Given the description of an element on the screen output the (x, y) to click on. 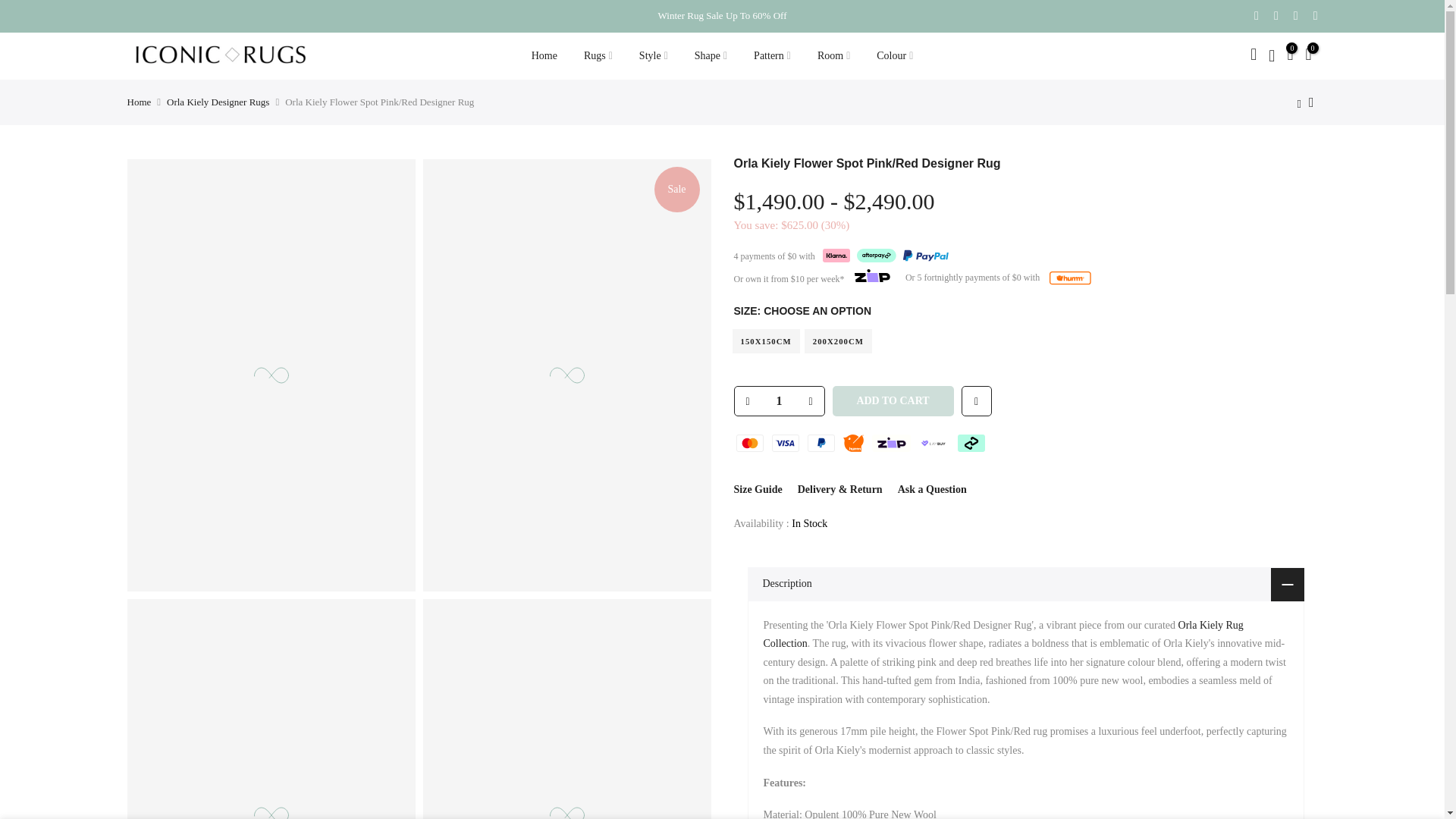
Size Guide (758, 489)
Shape (710, 55)
ADD TO CART (892, 400)
Colour (894, 55)
Pattern (773, 55)
Home (139, 101)
Style (653, 55)
Ask a Question (932, 489)
Room (833, 55)
Home (544, 55)
